Given the description of an element on the screen output the (x, y) to click on. 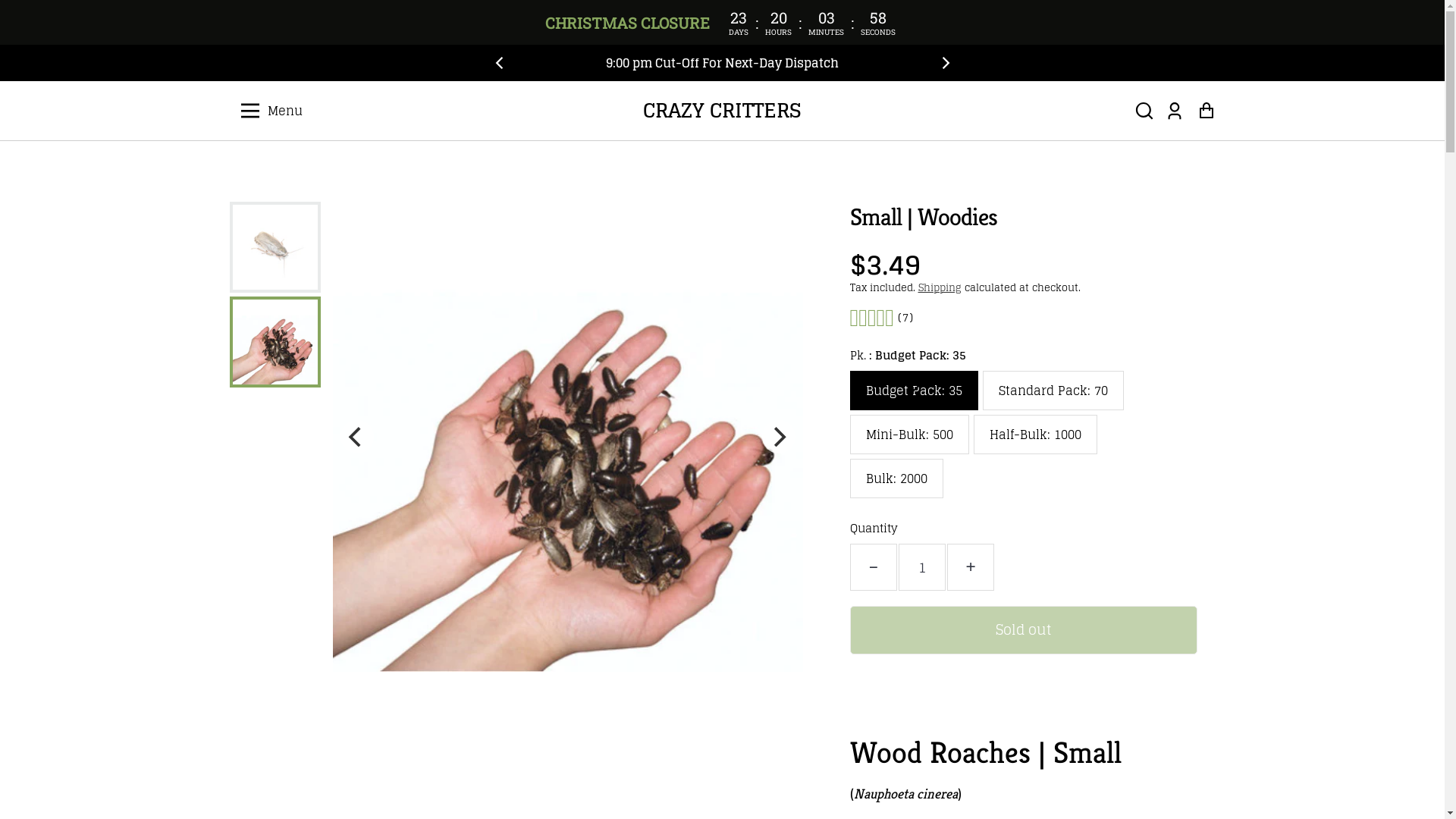
Sold out Element type: text (1022, 629)
CRAZY CRITTERS Element type: text (722, 110)
Shipping Element type: text (938, 287)
- Element type: text (872, 566)
+ Element type: text (969, 566)
Cart Element type: text (1205, 110)
Log in Element type: text (1173, 110)
Search Element type: hover (1143, 110)
